Given the description of an element on the screen output the (x, y) to click on. 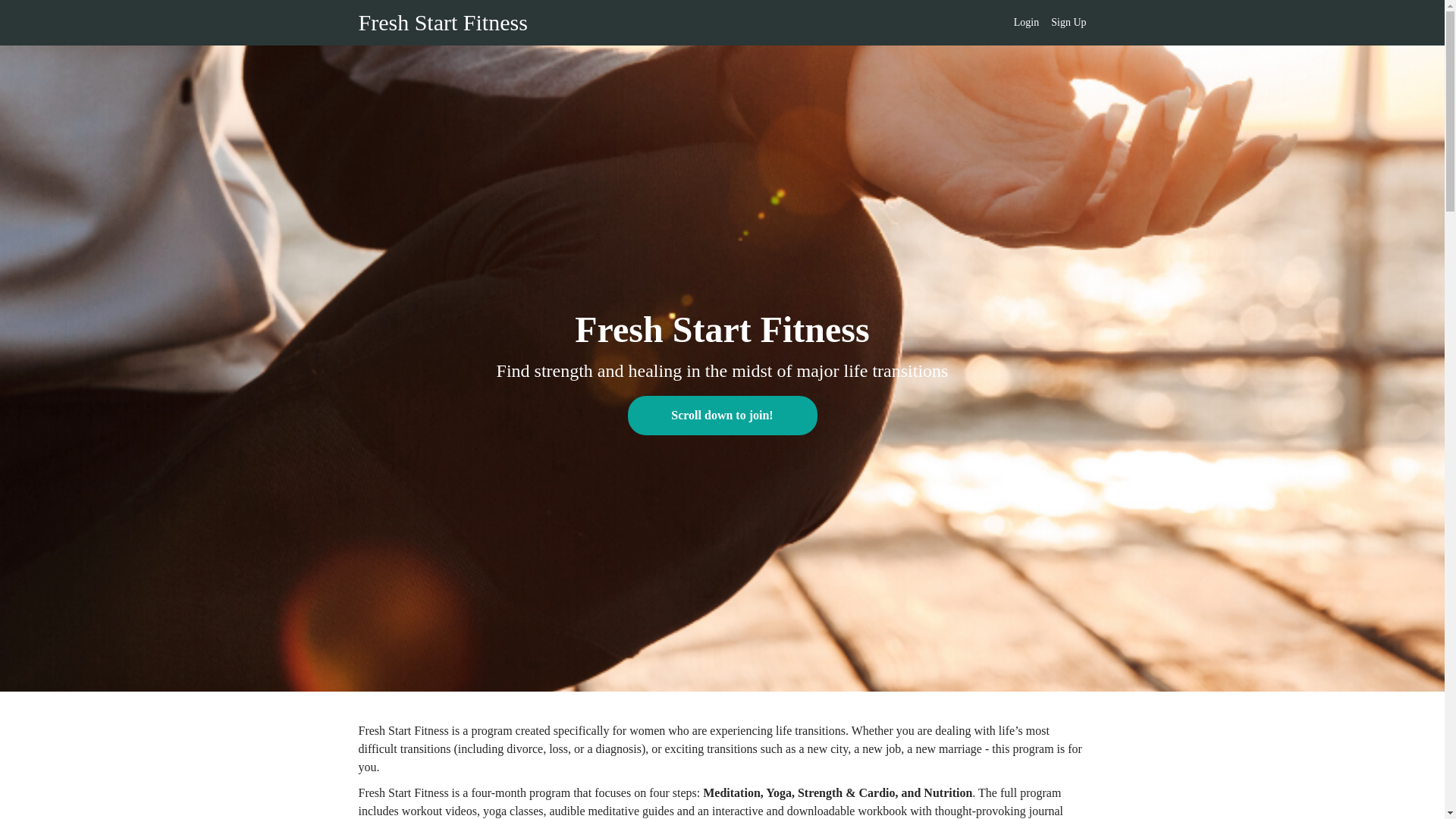
Scroll down to join! (721, 416)
Fresh Start Fitness (442, 22)
Login (1026, 22)
Scroll down to join! (721, 414)
Sign Up (1068, 22)
